Given the description of an element on the screen output the (x, y) to click on. 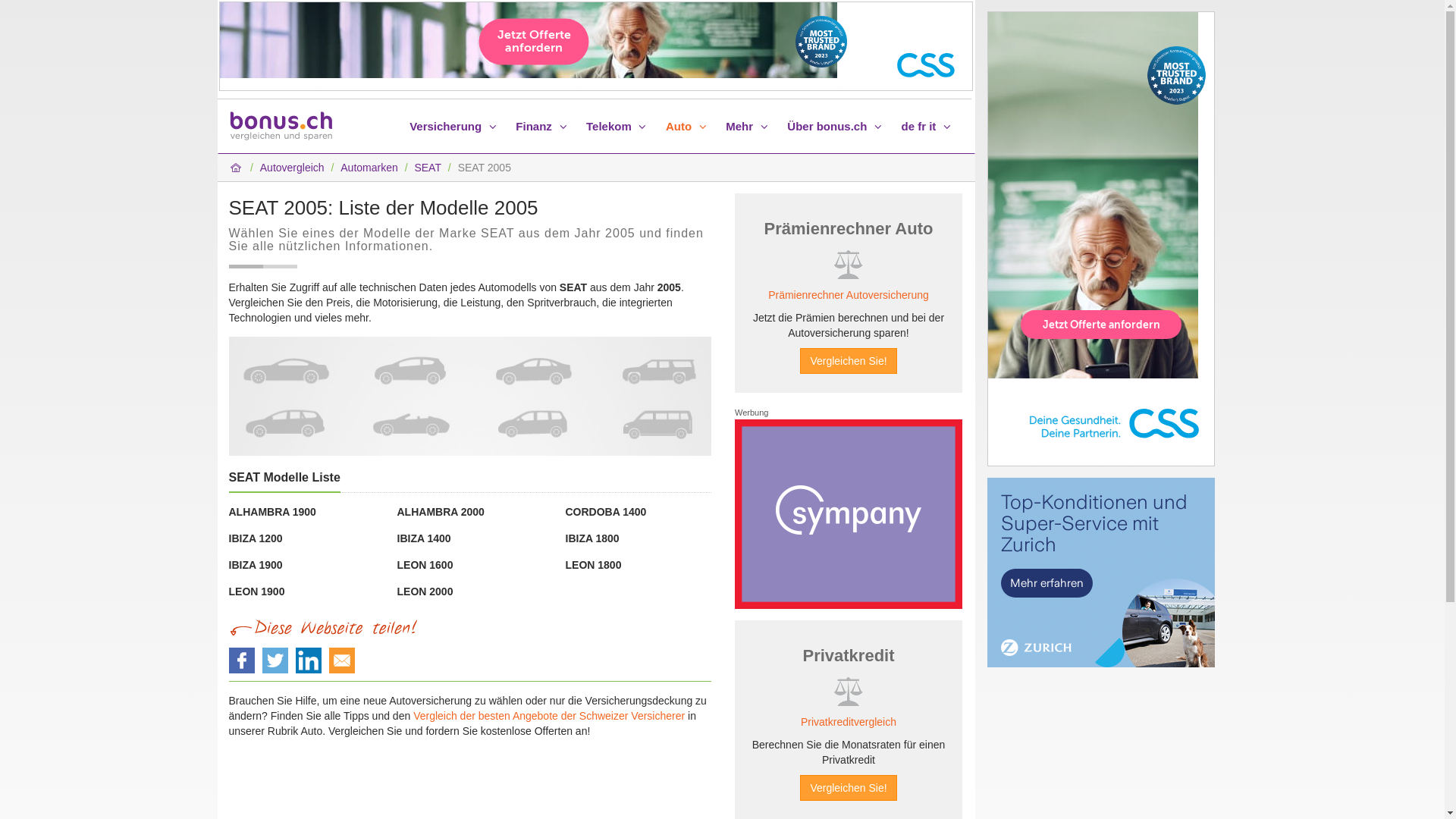
IBIZA 1800 Element type: text (592, 538)
Vergleichen Sie! Element type: text (848, 360)
SEAT Element type: text (427, 167)
3rd party ad content Element type: hover (1100, 572)
Mehr Element type: text (748, 126)
ALHAMBRA 2000 Element type: text (440, 511)
LEON 1900 Element type: text (257, 591)
Finanz Element type: text (543, 126)
de fr it Element type: text (927, 126)
Privatkreditvergleich Element type: text (848, 721)
Auto Element type: text (688, 126)
3rd party ad content Element type: hover (848, 513)
Vergleichen Sie! Element type: text (848, 787)
IBIZA 1900 Element type: text (255, 564)
ALHAMBRA 1900 Element type: text (272, 511)
IBIZA 1400 Element type: text (424, 538)
IBIZA 1200 Element type: text (255, 538)
3rd party ad content Element type: hover (1100, 238)
Autovergleich Element type: text (292, 167)
CORDOBA 1400 Element type: text (605, 511)
LEON 2000 Element type: text (425, 591)
3rd party ad content Element type: hover (595, 46)
Vergleich der besten Angebote der Schweizer Versicherer Element type: text (548, 715)
LEON 1800 Element type: text (593, 564)
Automarken Element type: text (368, 167)
LEON 1600 Element type: text (425, 564)
Versicherung Element type: text (454, 126)
Telekom Element type: text (618, 126)
